Given the description of an element on the screen output the (x, y) to click on. 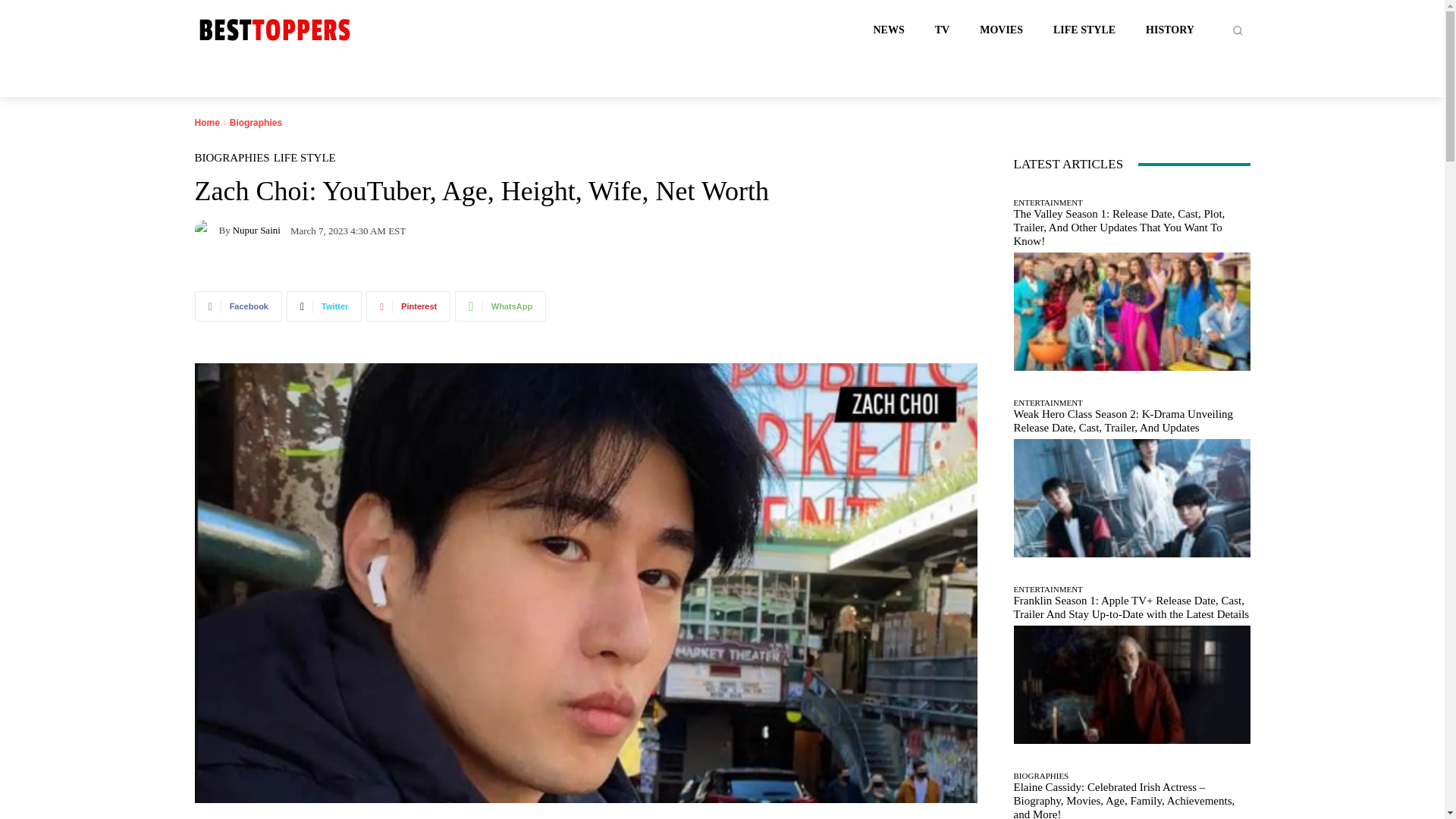
Home (206, 122)
LIFE STYLE (1083, 30)
BIOGRAPHIES (231, 157)
Biographies (256, 122)
LIFE STYLE (304, 157)
